Given the description of an element on the screen output the (x, y) to click on. 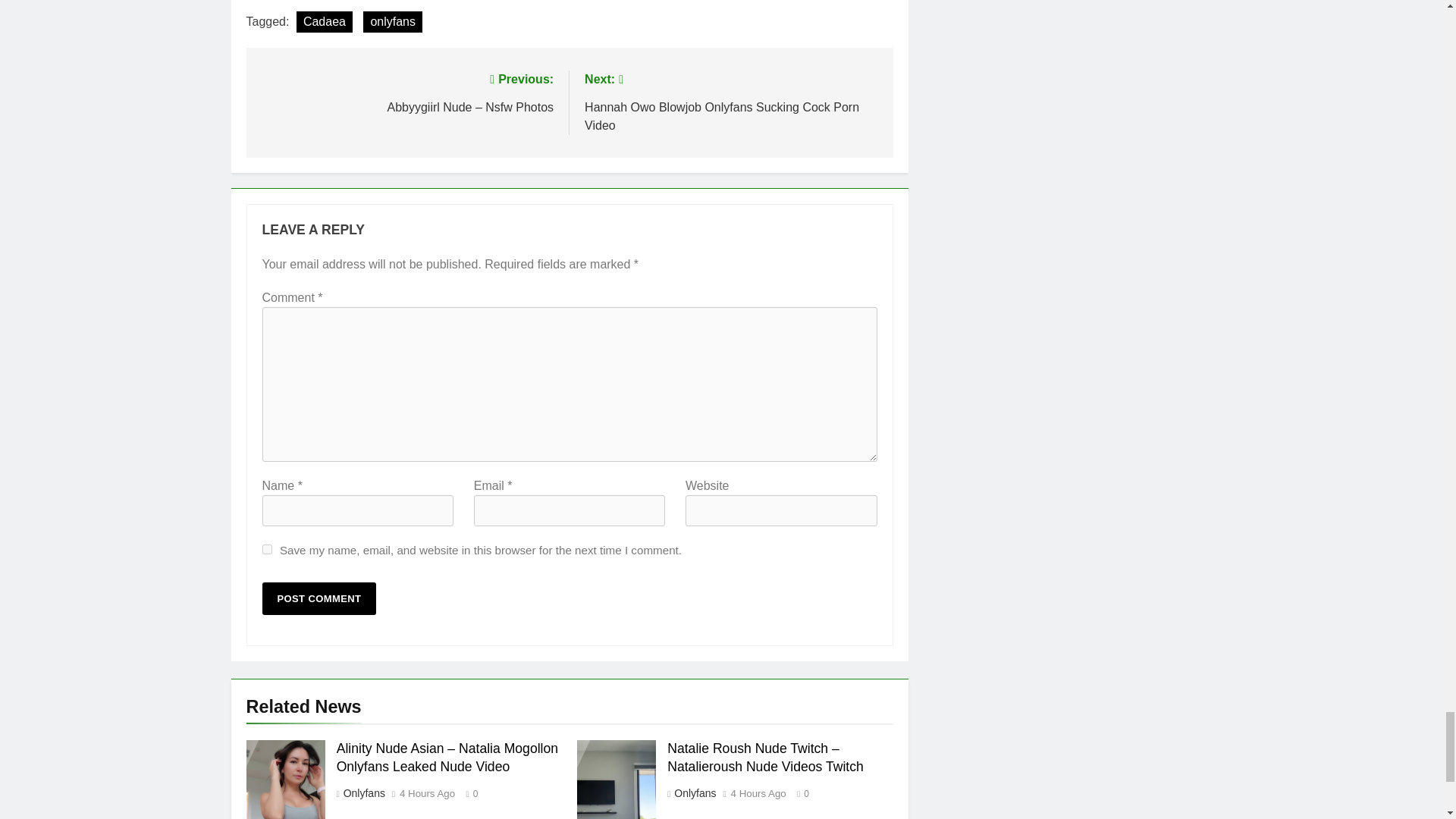
Onlyfans (693, 793)
4 Hours Ago (426, 793)
4 Hours Ago (758, 793)
onlyfans (392, 21)
Cadaea (324, 21)
Post Comment (319, 598)
Onlyfans (363, 793)
Post Comment (319, 598)
yes (267, 549)
